Given the description of an element on the screen output the (x, y) to click on. 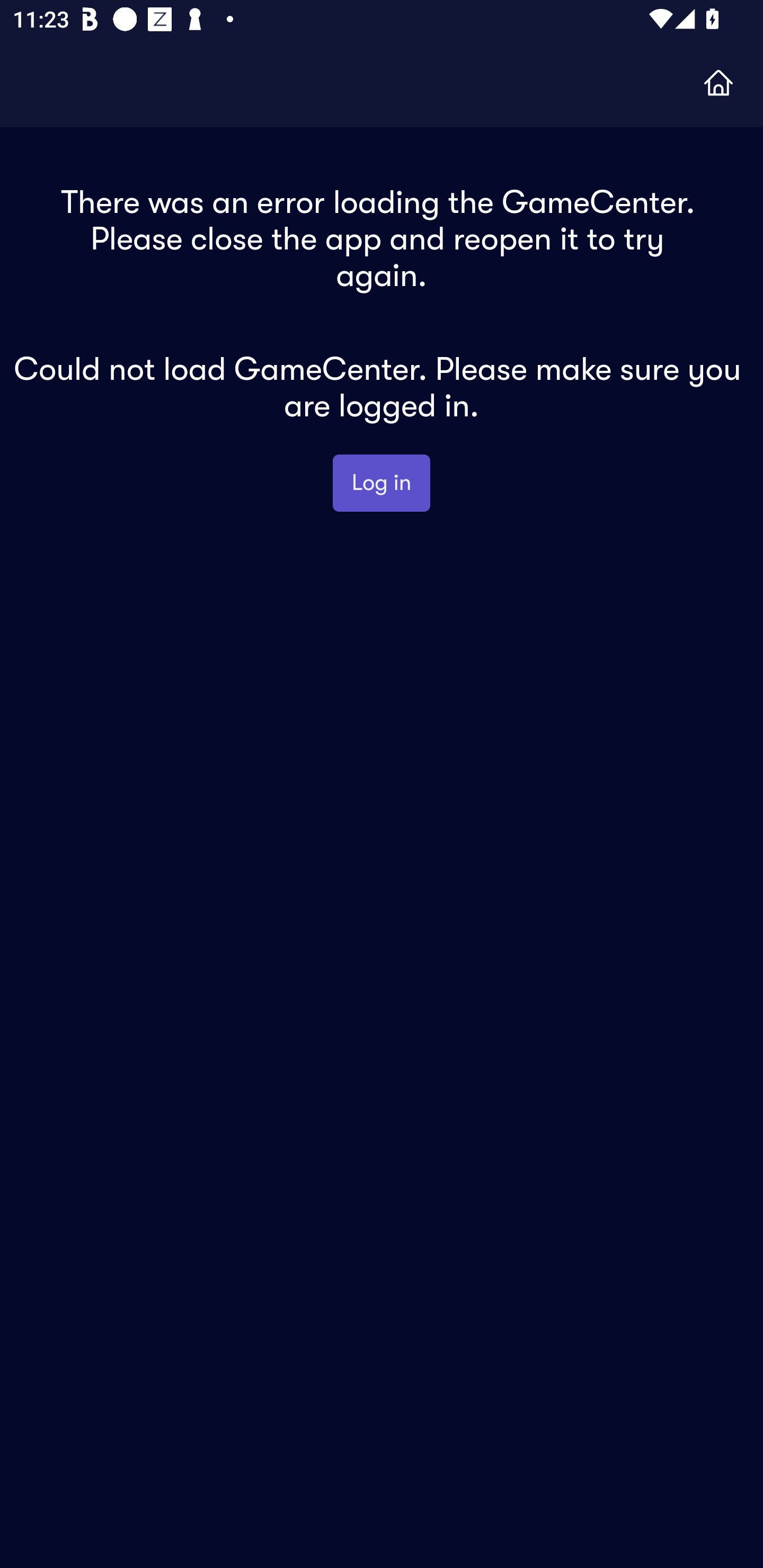
Log in (381, 482)
